Given the description of an element on the screen output the (x, y) to click on. 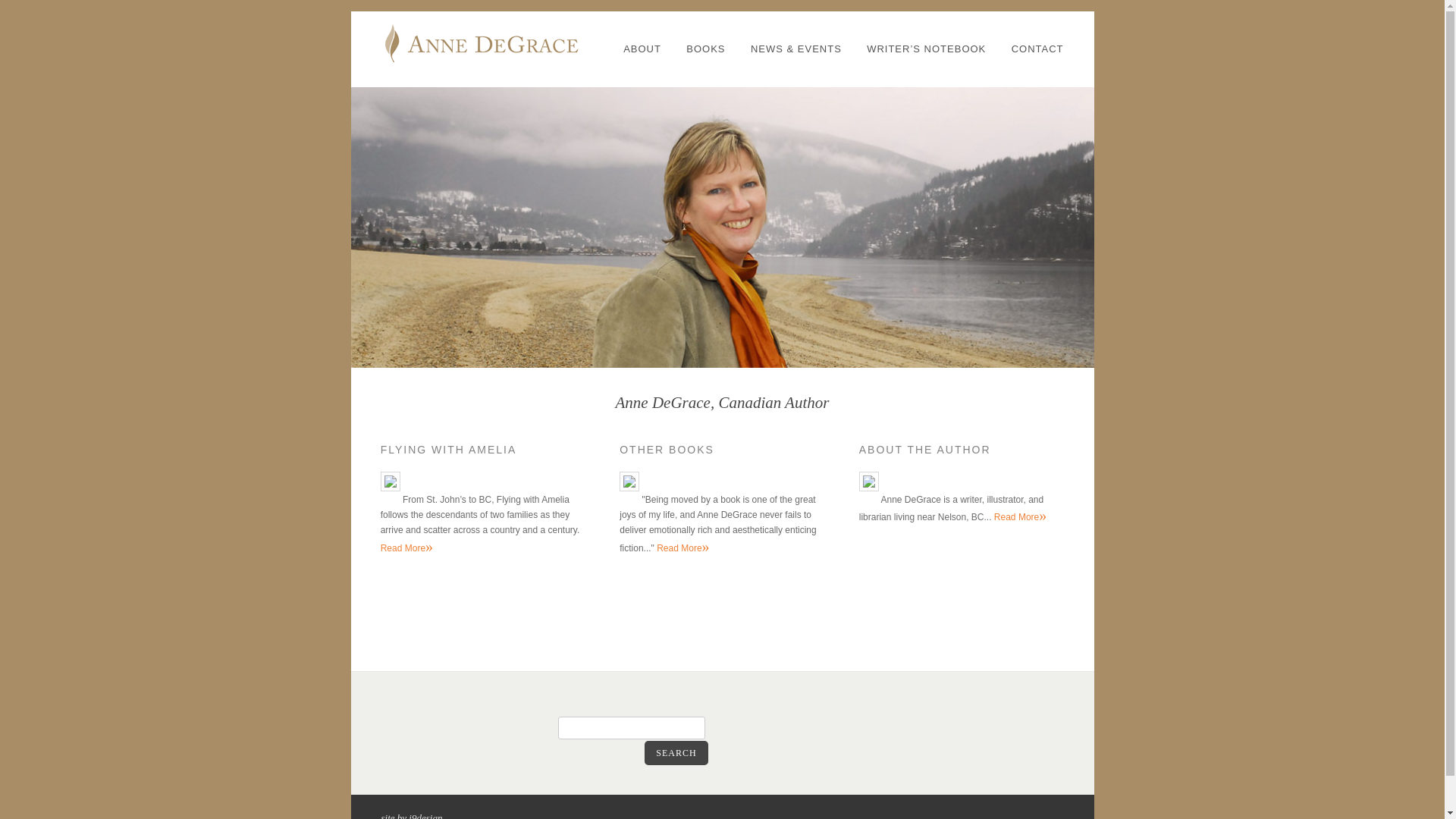
CONTACT Element type: text (1037, 48)
BOOKS Element type: text (705, 48)
ABOUT Element type: text (641, 48)
NEWS & EVENTS Element type: text (796, 48)
SEARCH Element type: text (675, 752)
